Given the description of an element on the screen output the (x, y) to click on. 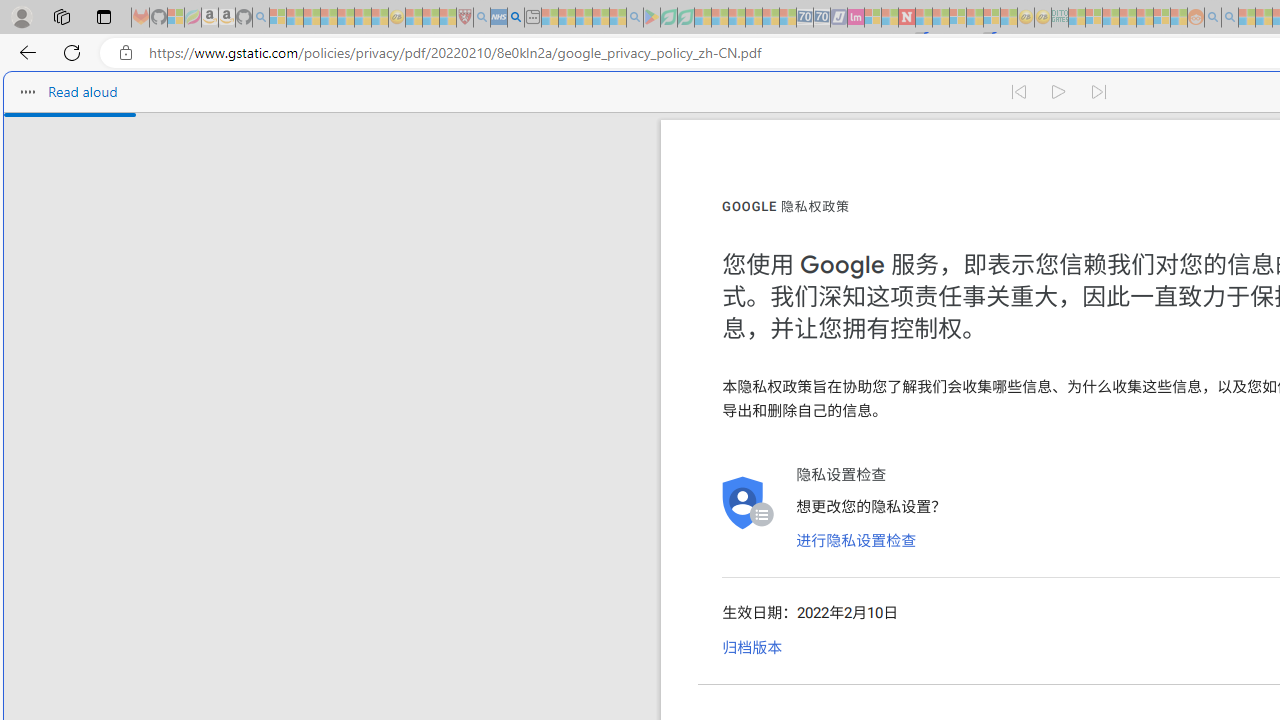
utah sues federal government - Search (515, 17)
